Given the description of an element on the screen output the (x, y) to click on. 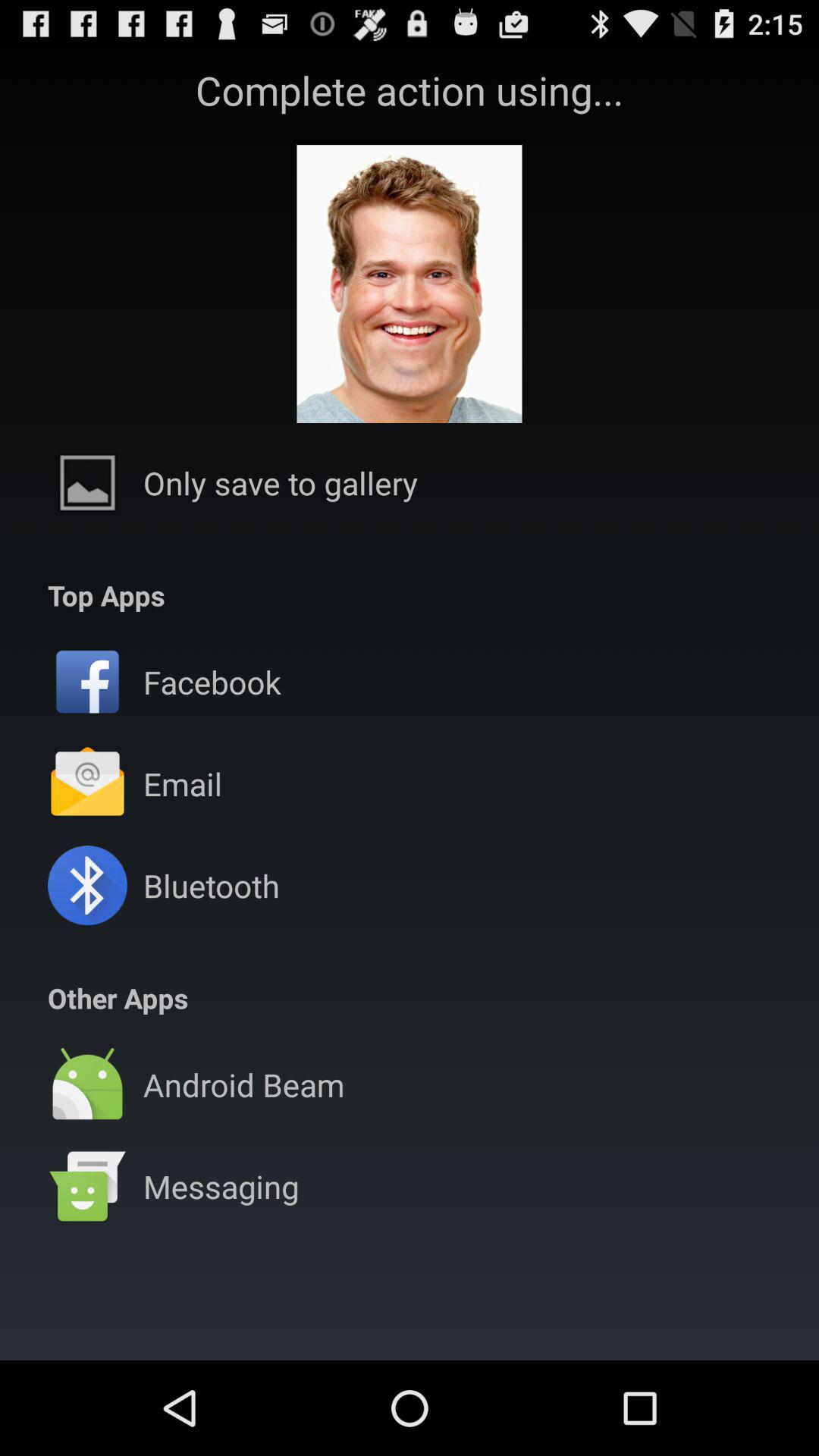
click other apps item (117, 997)
